Given the description of an element on the screen output the (x, y) to click on. 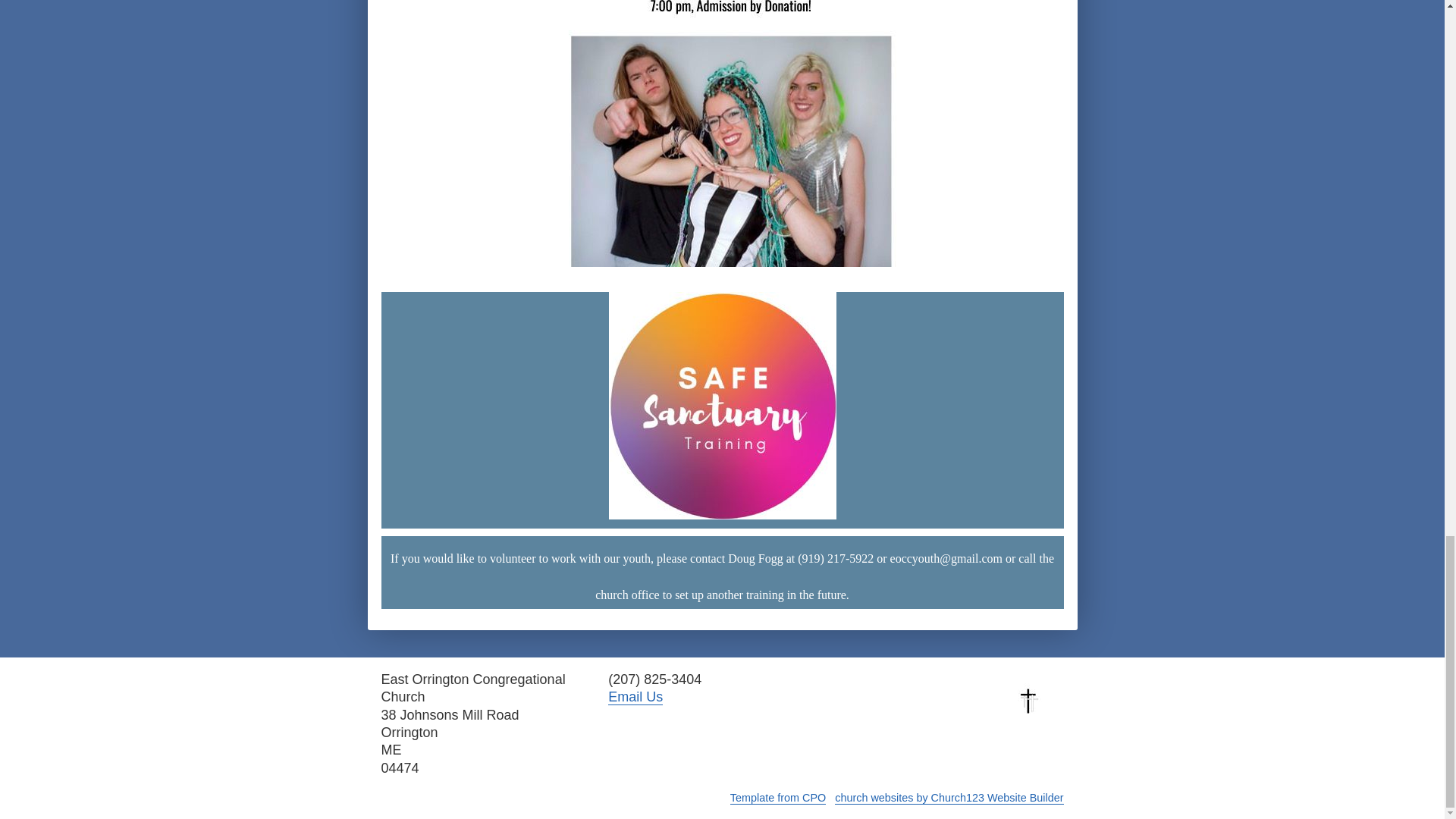
Template from CPO (777, 797)
Email Us (635, 697)
church websites by Church123 Website Builder (948, 797)
Safe Sanctuary (721, 405)
Undefeated (703, 133)
